Given the description of an element on the screen output the (x, y) to click on. 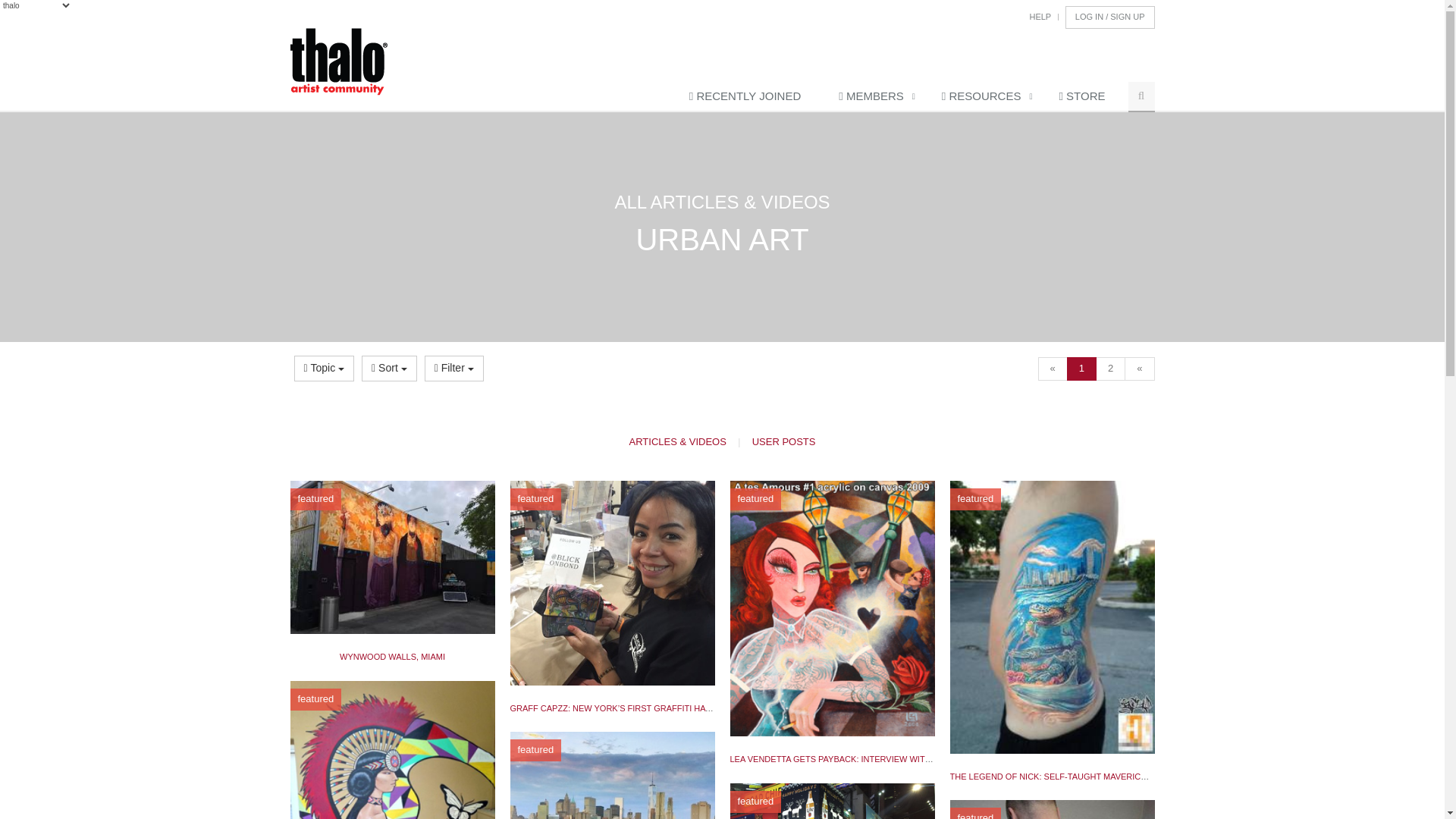
 RECENTLY JOINED (749, 96)
1 (1084, 96)
Filter (454, 368)
Topic (324, 368)
1 (1081, 368)
Sort (388, 368)
MEMBERS (875, 96)
RESOURCES (984, 96)
 STORE (1084, 96)
HELP (1040, 16)
